Given the description of an element on the screen output the (x, y) to click on. 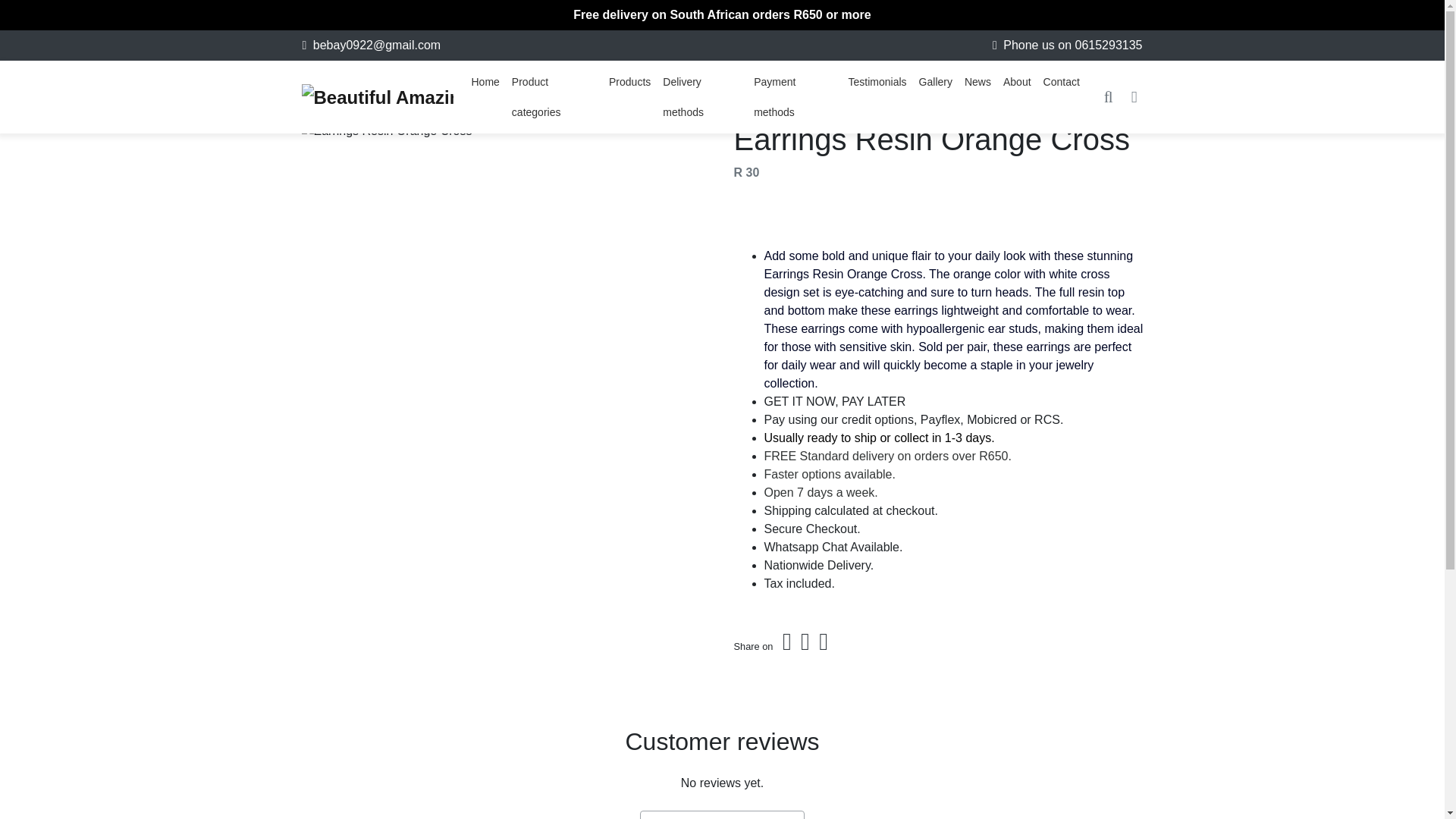
Click here to write a review (722, 814)
Contact (1061, 81)
Payment methods (794, 96)
News (977, 81)
About (1016, 81)
ADD TO CART (937, 214)
Home (485, 81)
Gallery (935, 81)
Testimonials (877, 81)
Products (629, 81)
